Given the description of an element on the screen output the (x, y) to click on. 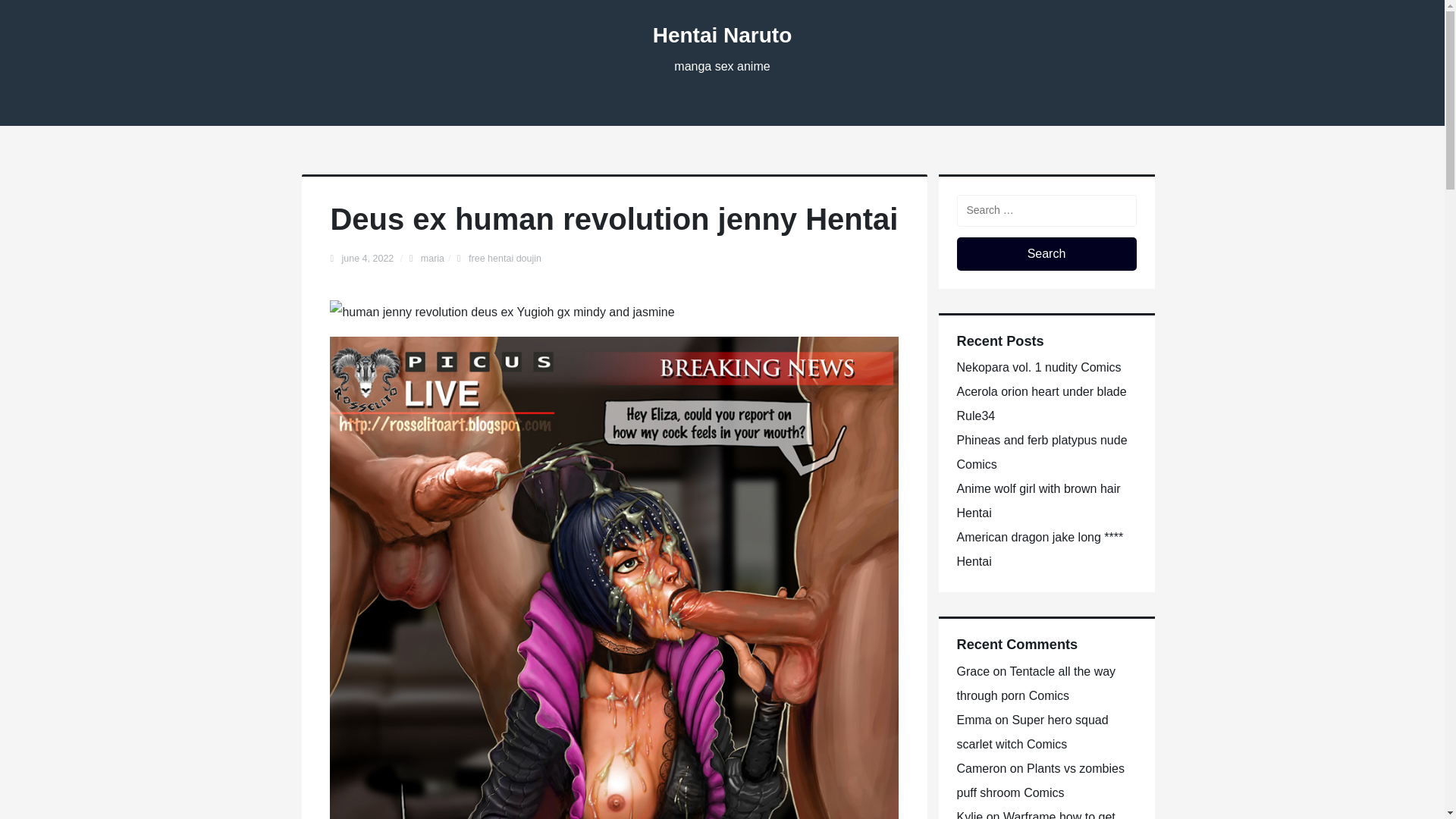
Plants vs zombies puff shroom Comics (1040, 780)
free hentai doujin (504, 258)
Warframe how to get valkyr Hentai (1035, 814)
Search (1046, 254)
Search (1046, 254)
Super hero squad scarlet witch Comics (1032, 732)
Hentai Naruto (722, 34)
Anime wolf girl with brown hair Hentai (1038, 500)
Nekopara vol. 1 nudity Comics (1038, 367)
Acerola orion heart under blade Rule34 (1041, 403)
